Given the description of an element on the screen output the (x, y) to click on. 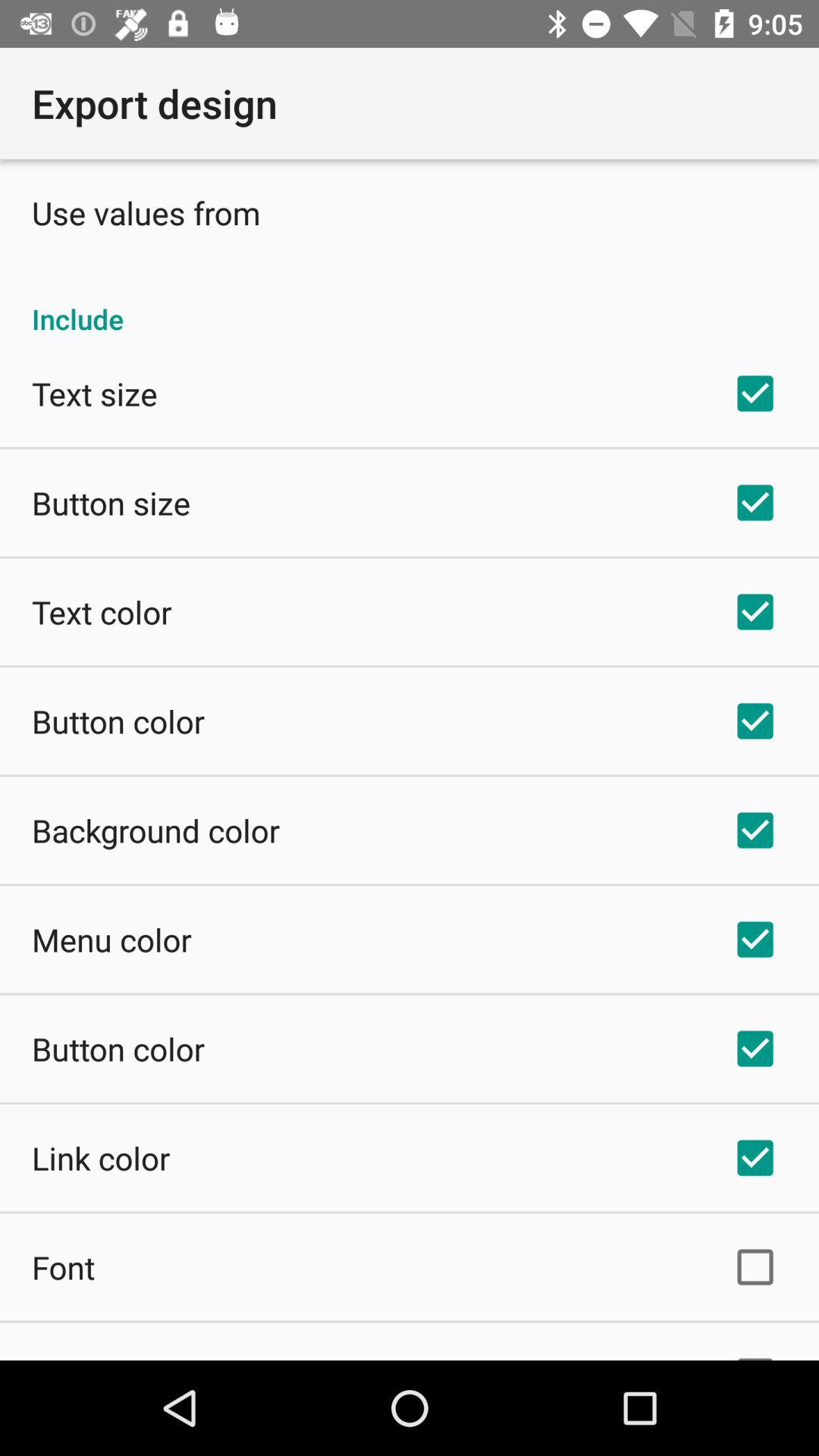
tap the icon above the font item (100, 1157)
